Given the description of an element on the screen output the (x, y) to click on. 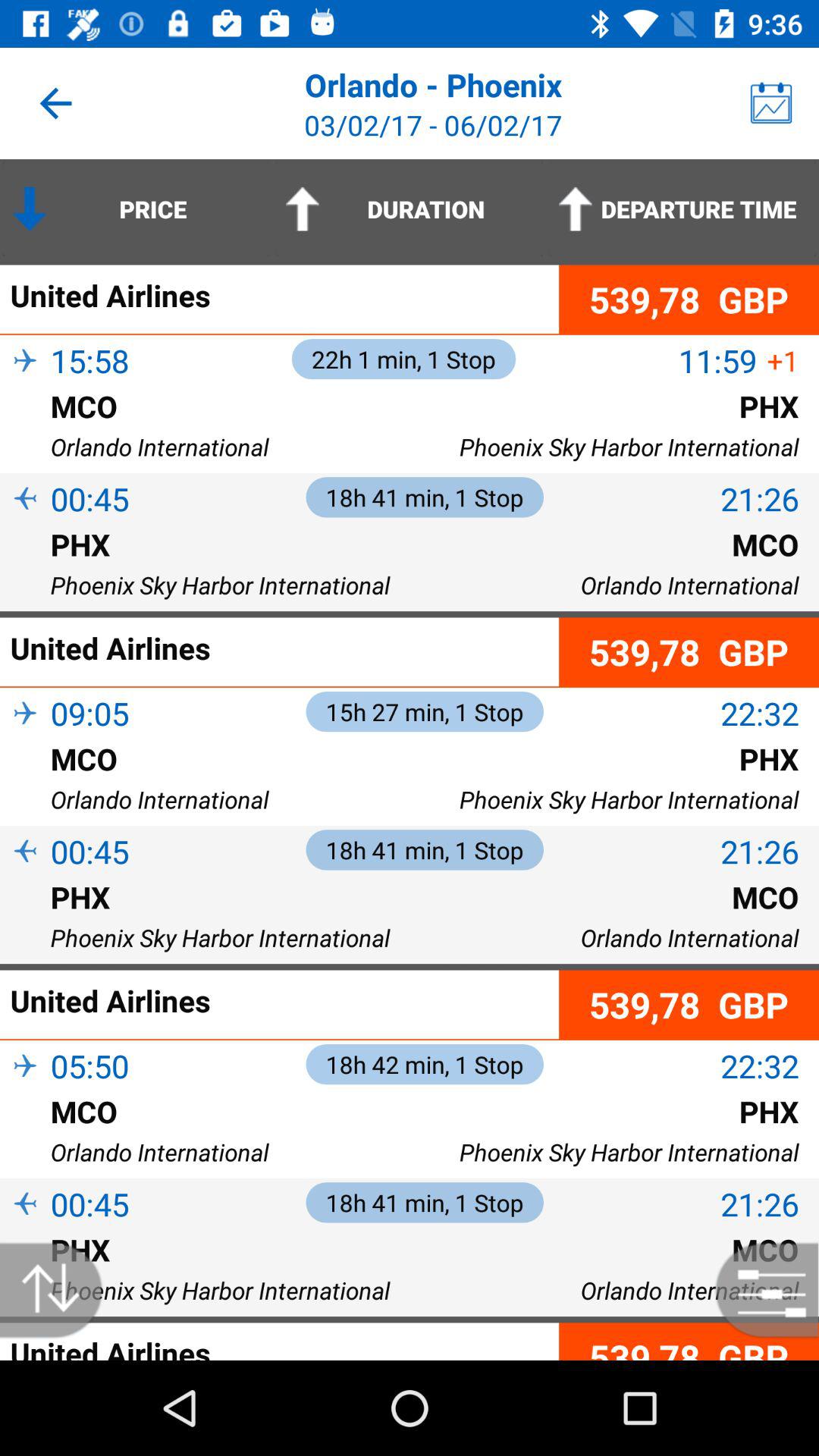
tap item next to the 00:45 icon (25, 877)
